Given the description of an element on the screen output the (x, y) to click on. 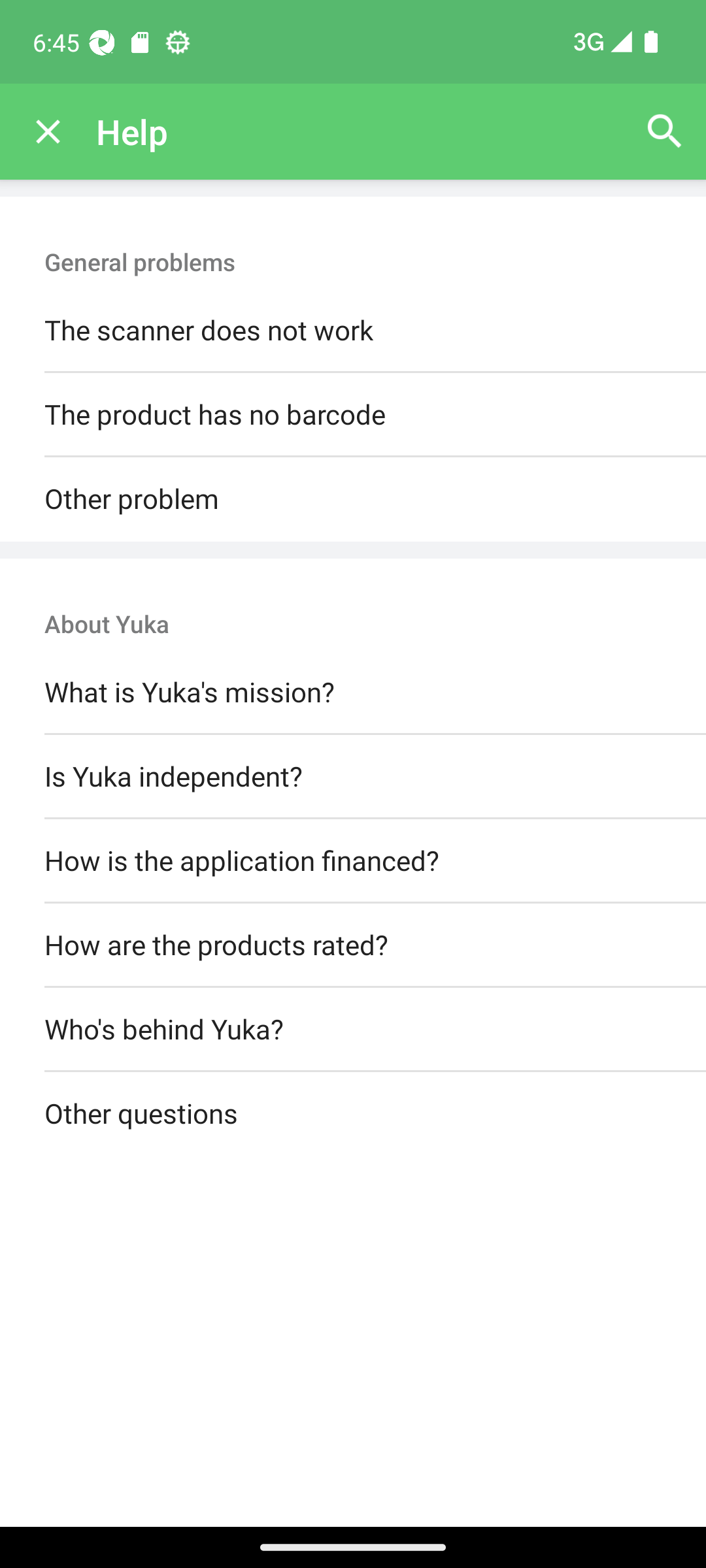
Search (664, 131)
The scanner does not work (353, 330)
The product has no barcode (353, 415)
Other problem (353, 498)
What is Yuka's mission? (353, 692)
Is Yuka independent? (353, 776)
How is the application financed? (353, 860)
How are the products rated? (353, 945)
Who's behind Yuka? (353, 1029)
Other questions (353, 1114)
